Given the description of an element on the screen output the (x, y) to click on. 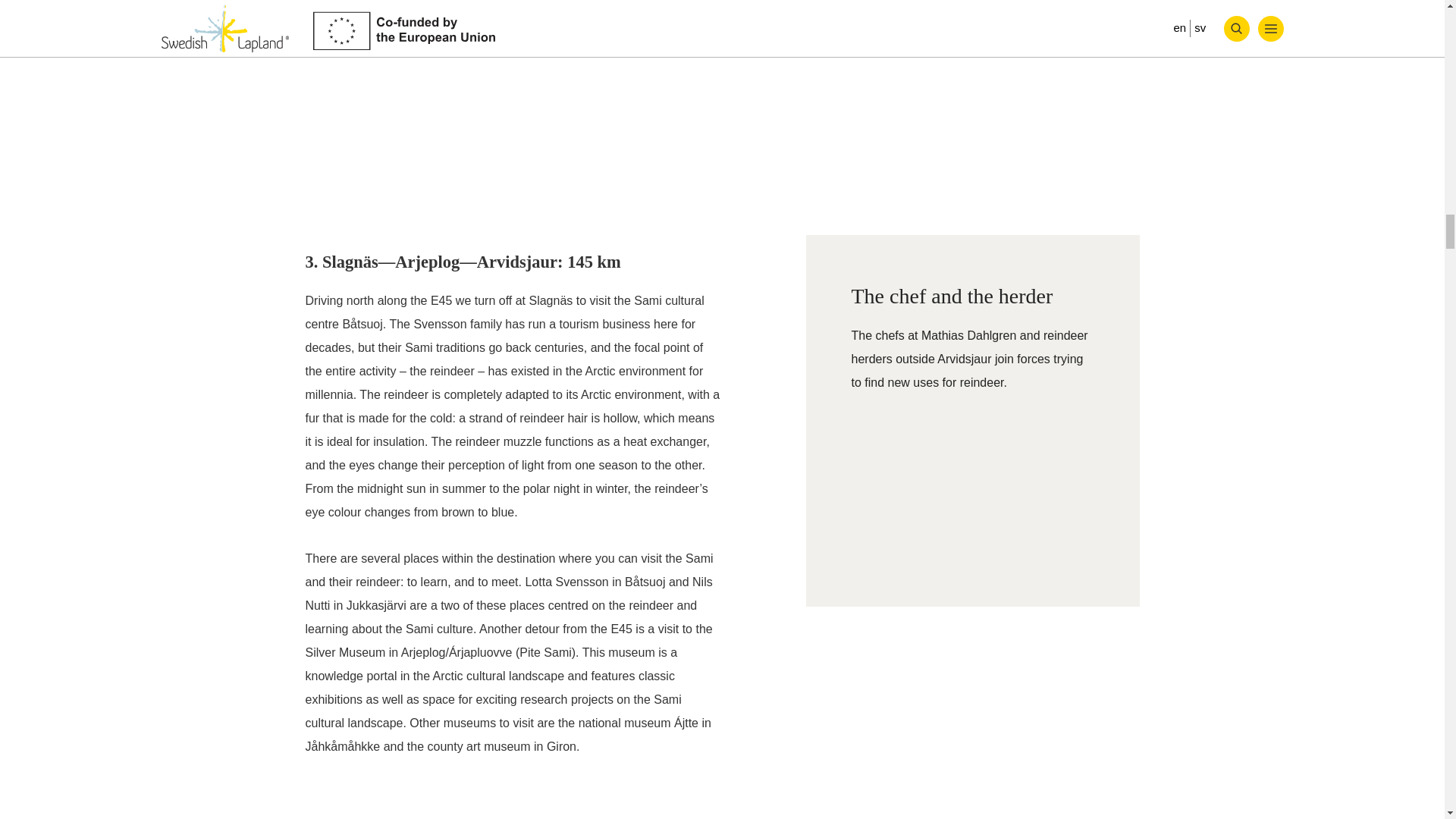
YouTube video player (971, 484)
